Given the description of an element on the screen output the (x, y) to click on. 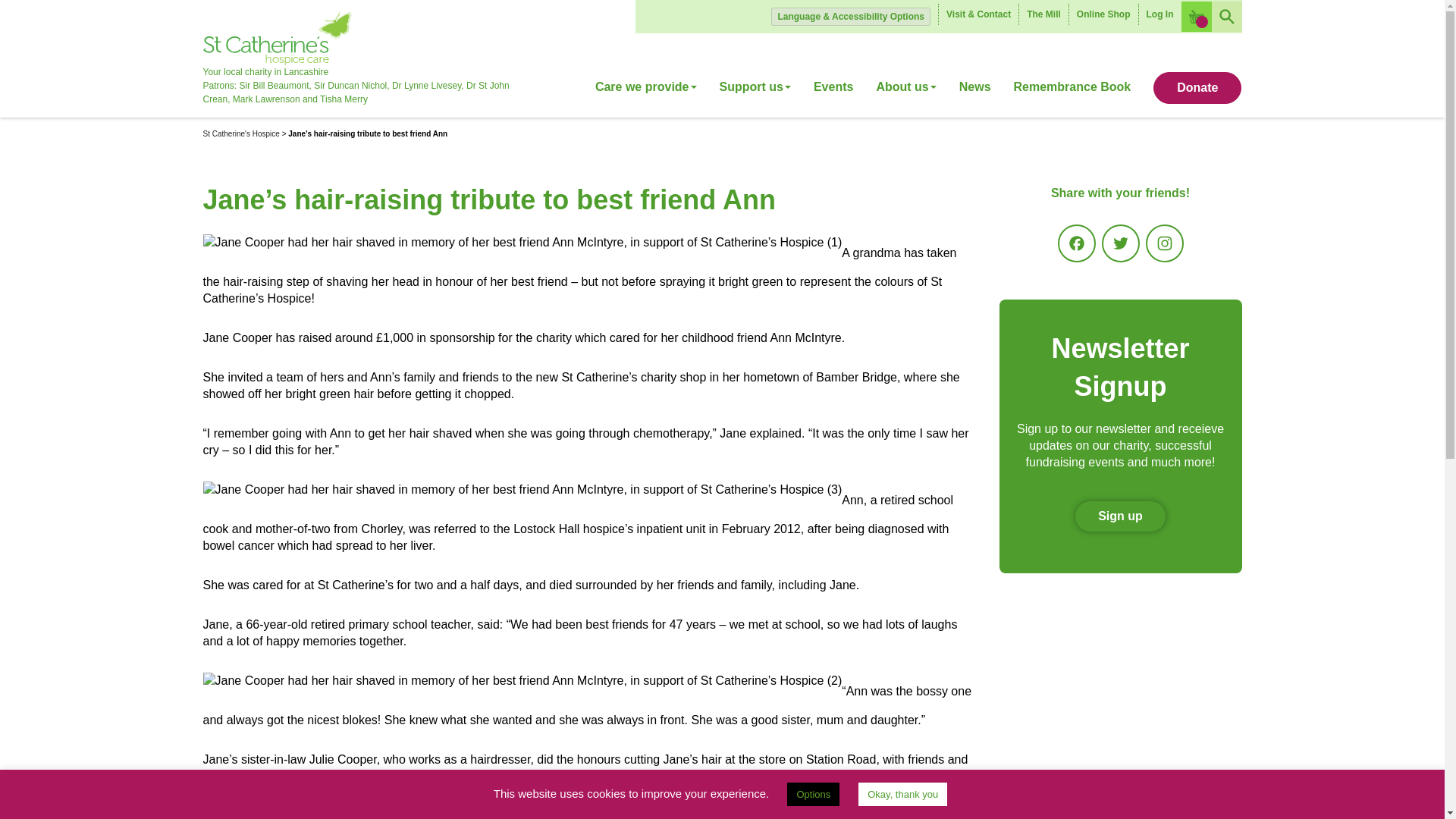
Online Shop (1103, 14)
The Mill (1043, 14)
Care we provide (651, 92)
Support us (754, 92)
Log In (1159, 14)
